Given the description of an element on the screen output the (x, y) to click on. 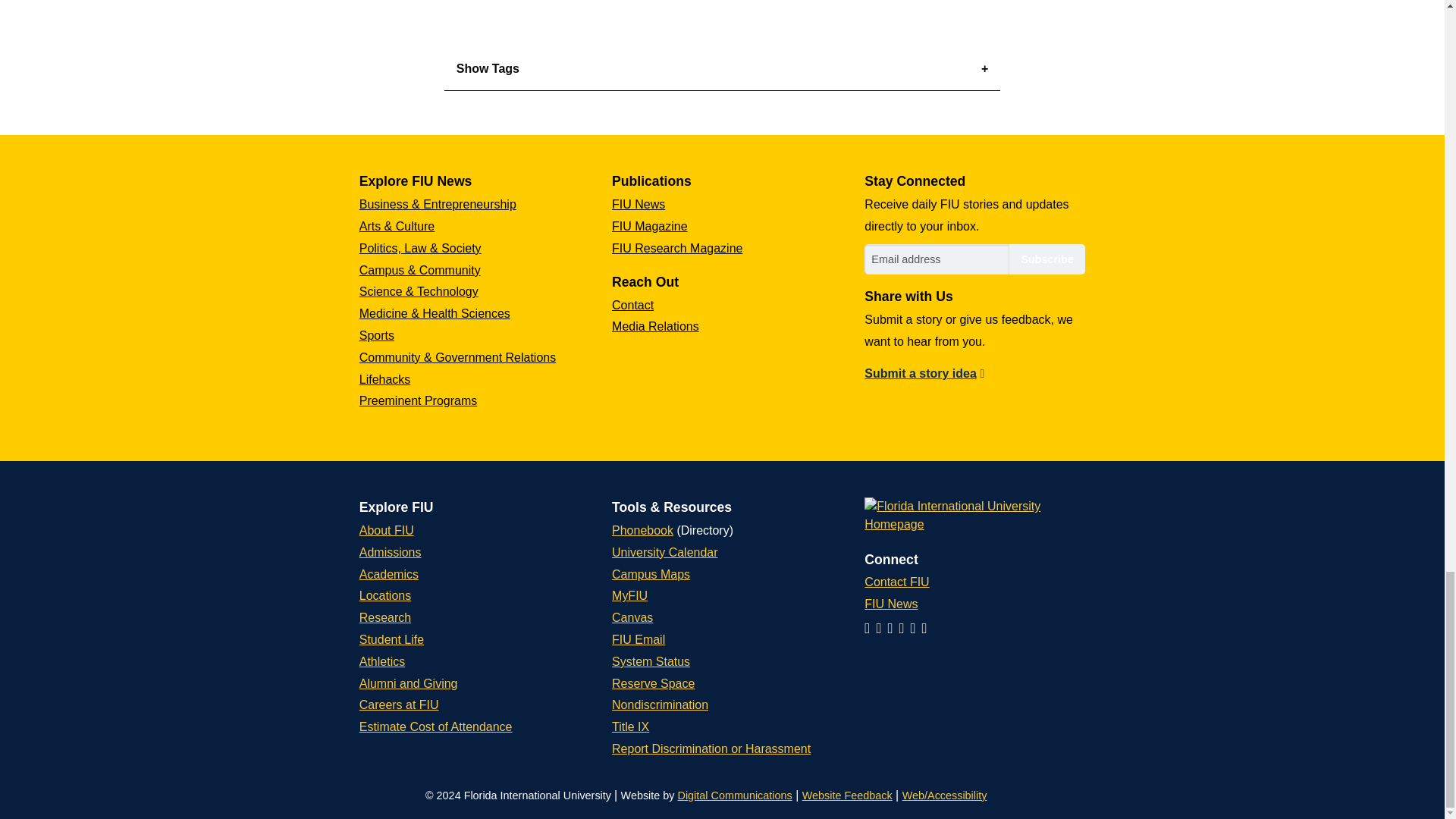
Show Tags (722, 68)
Lifehacks (384, 379)
Subscribe (1046, 259)
Preeminent Programs (418, 400)
Sports (376, 335)
FIU News (638, 204)
